Given the description of an element on the screen output the (x, y) to click on. 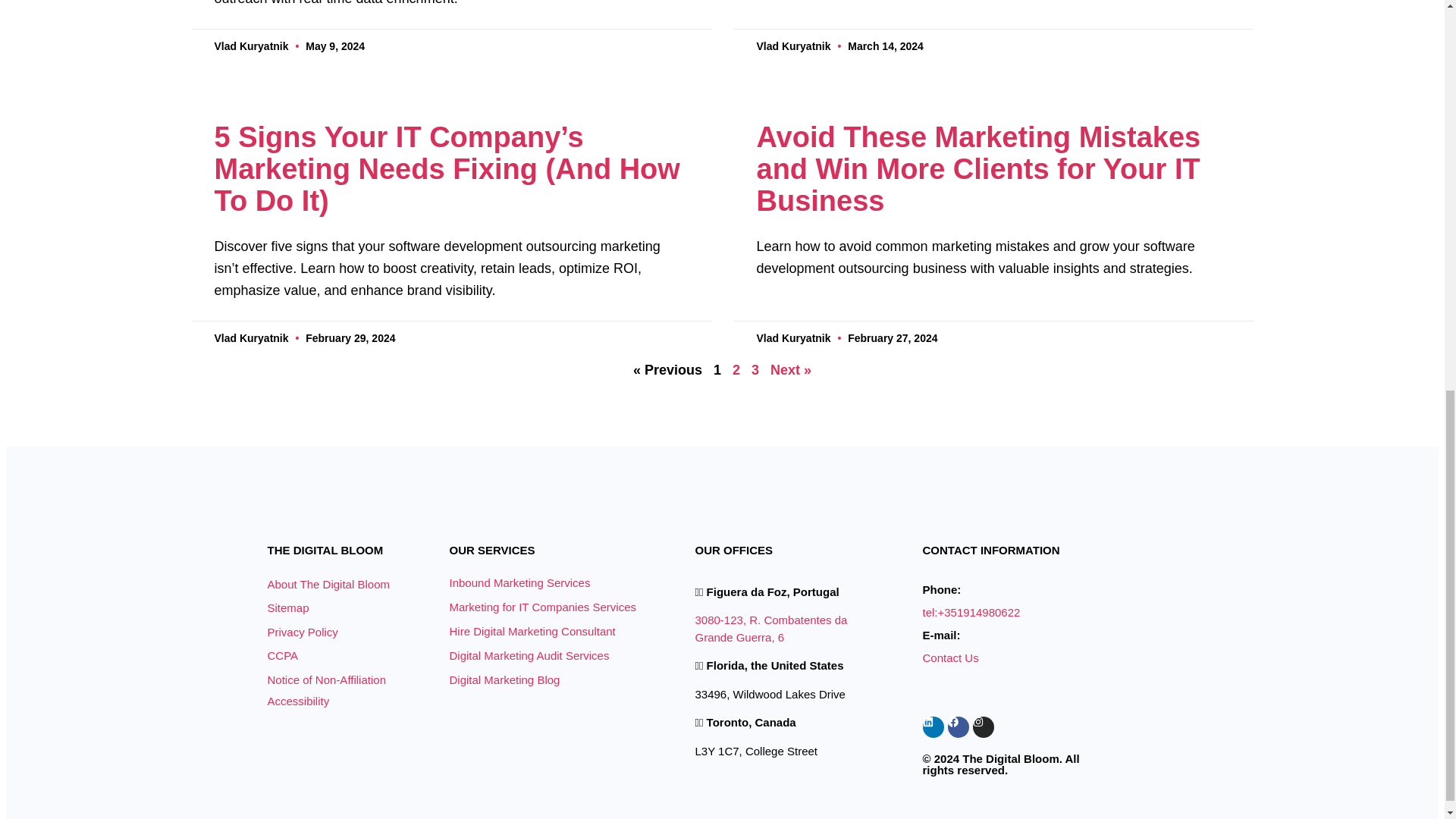
About The Digital Bloom (357, 584)
Inbound Marketing Services (552, 582)
Sitemap (357, 607)
Marketing for IT Companies Services (552, 607)
Digital Marketing Audit Services (552, 655)
Accessibility (297, 700)
Hire Digital Marketing Consultant (552, 630)
CCPA (357, 655)
Notice of Non-Affiliation (357, 680)
The Digital Bloom:Inbound Marketing Agency (308, 502)
Privacy Policy (357, 631)
